Given the description of an element on the screen output the (x, y) to click on. 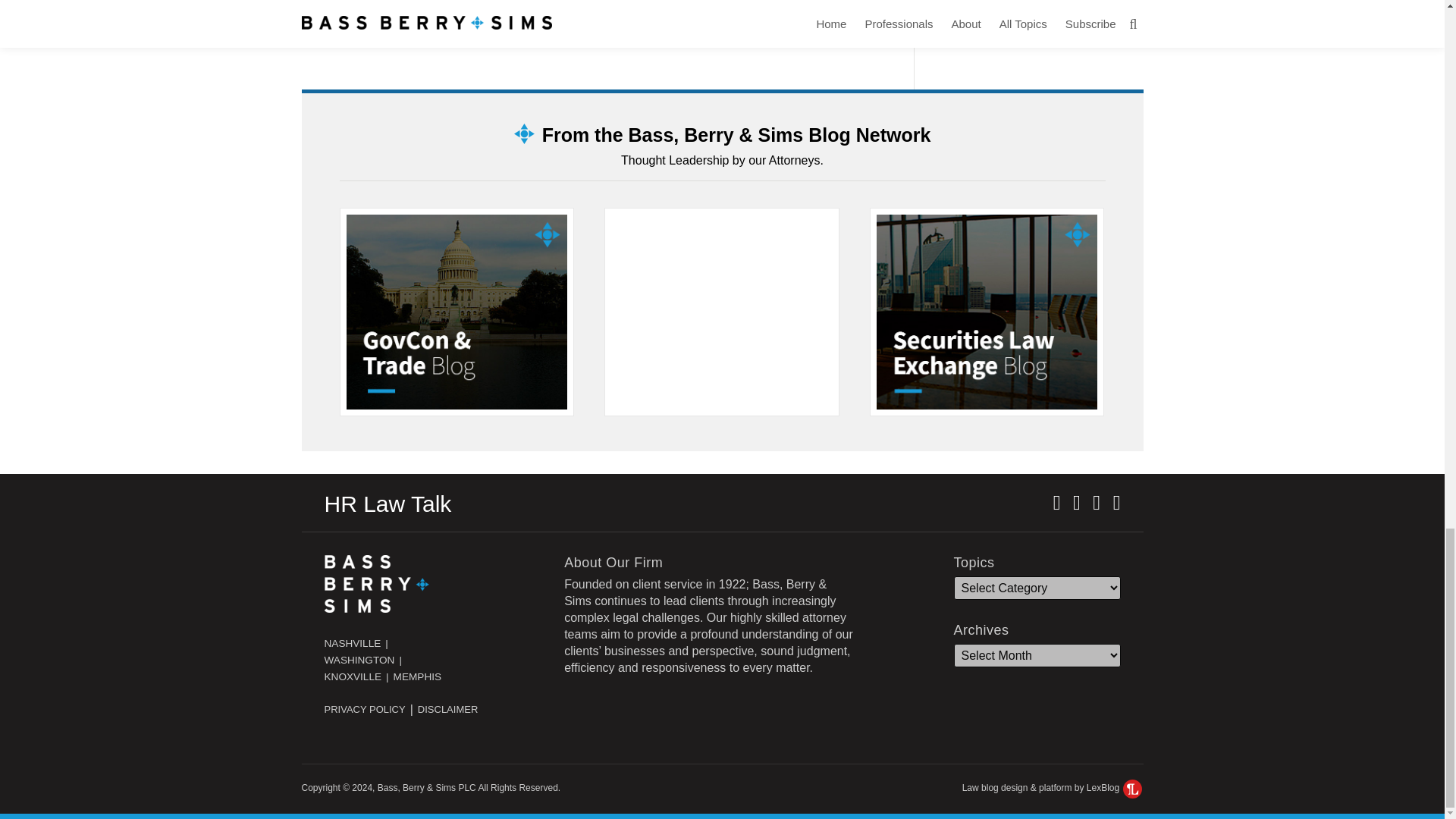
LexBlog Logo (1131, 788)
